Given the description of an element on the screen output the (x, y) to click on. 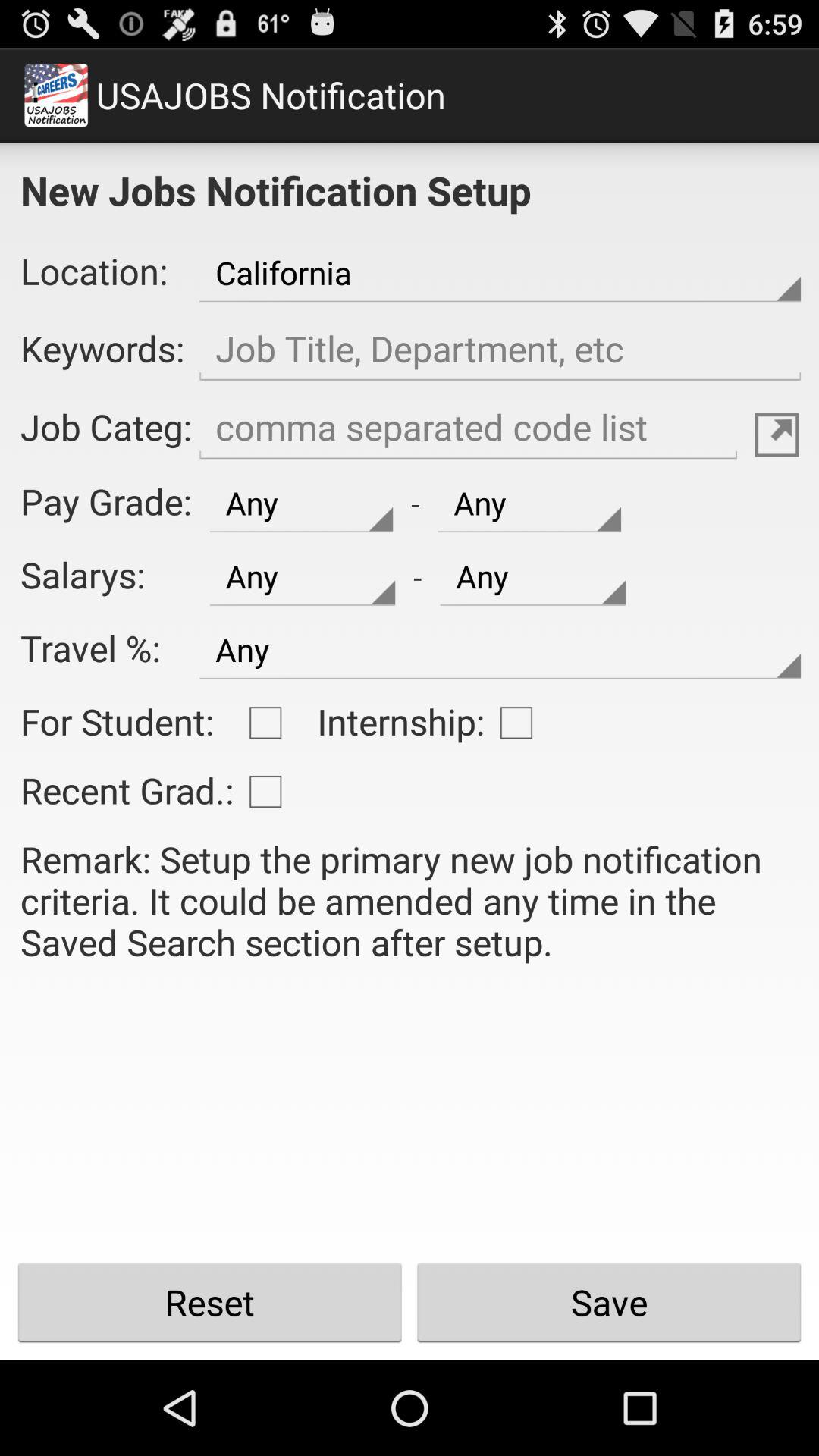
click on any field which is on the right to travel  (500, 649)
click on the any option to the left of salarys text (302, 576)
click on reset (209, 1303)
